Given the description of an element on the screen output the (x, y) to click on. 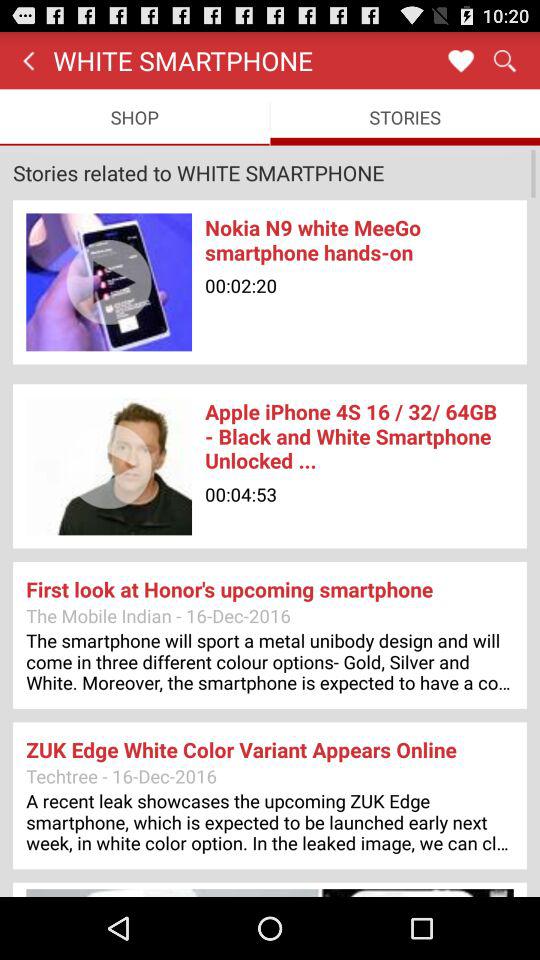
click item above the shop item (28, 60)
